Given the description of an element on the screen output the (x, y) to click on. 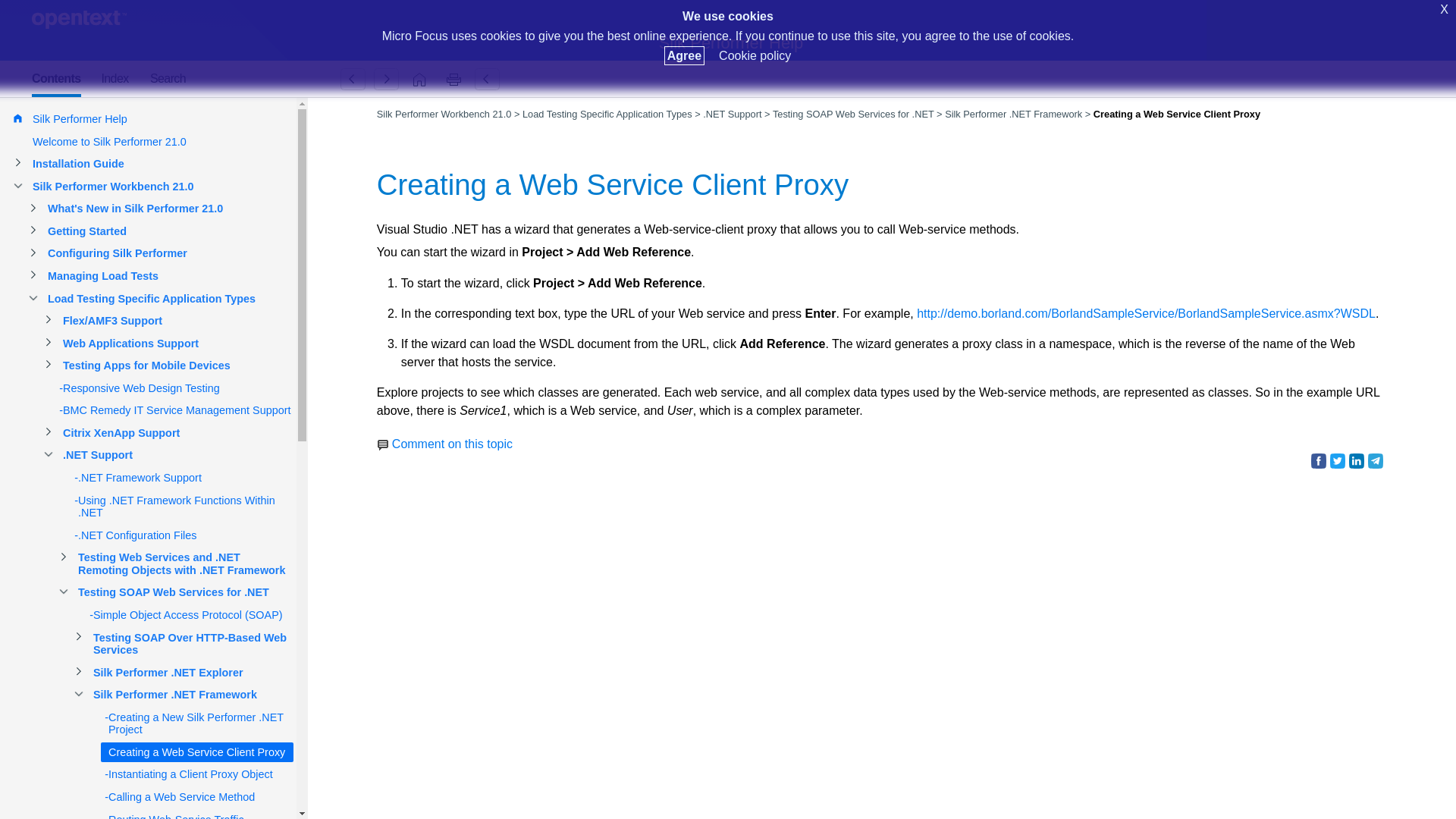
Creating a New Silk Performer .NET Project (352, 78)
Instantiating a Client Proxy Object (386, 78)
Cookie policy (754, 55)
Agree (684, 55)
